Given the description of an element on the screen output the (x, y) to click on. 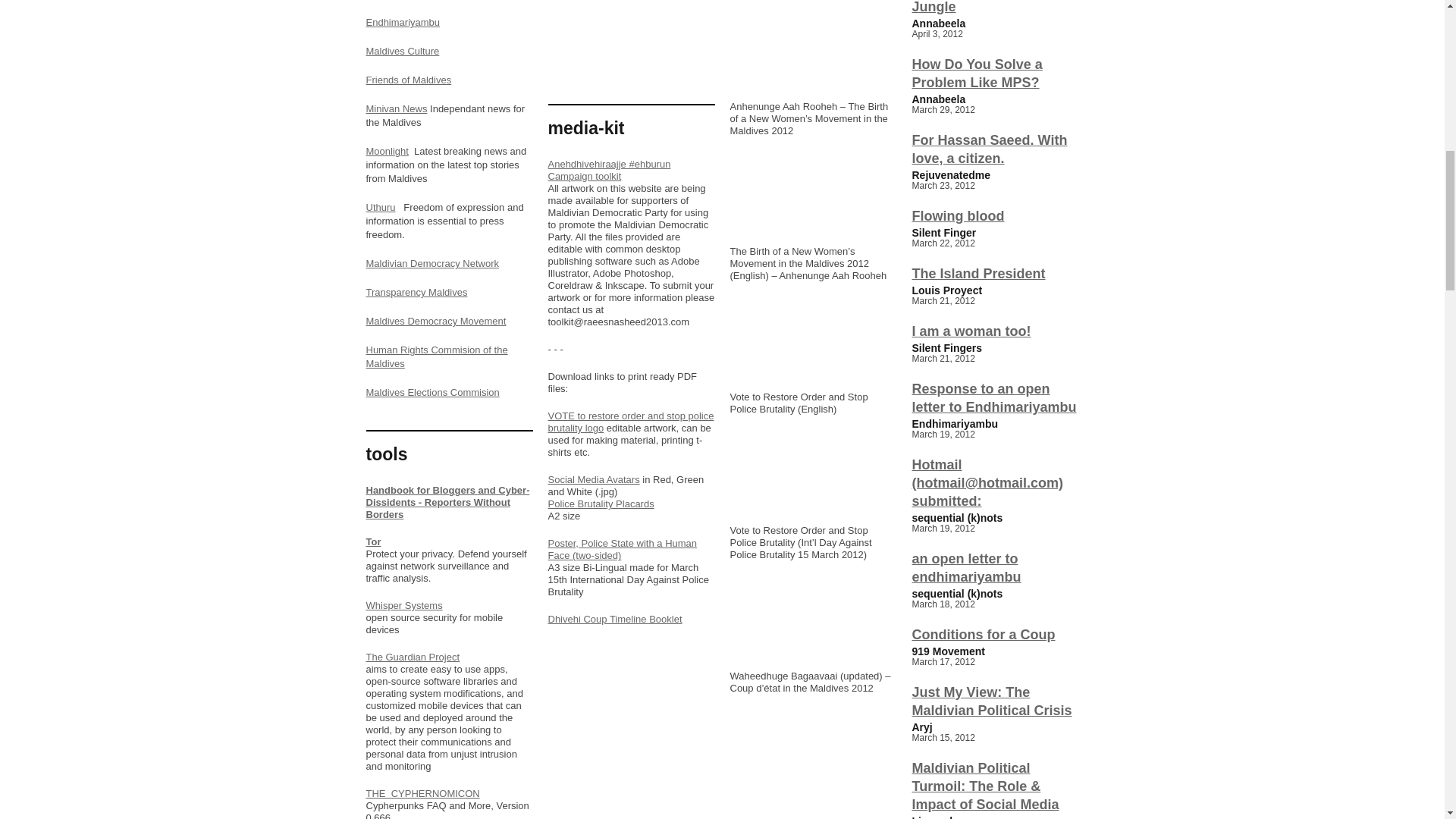
THE  CYPHERNOMICON (422, 793)
Maldives Democracy Movement (435, 320)
Minivan News (395, 108)
Minivan News (395, 108)
Maldoves Elections Commision (432, 392)
Maldives Elections Commision (432, 392)
Uthuru (379, 206)
Whisper Systems (403, 604)
Tor (372, 541)
Maldivian Democracy Network (432, 263)
The Guardian Project (412, 656)
Human Rights Commision of the Maldives (435, 356)
8th February 2012 - Violence (812, 53)
